Given the description of an element on the screen output the (x, y) to click on. 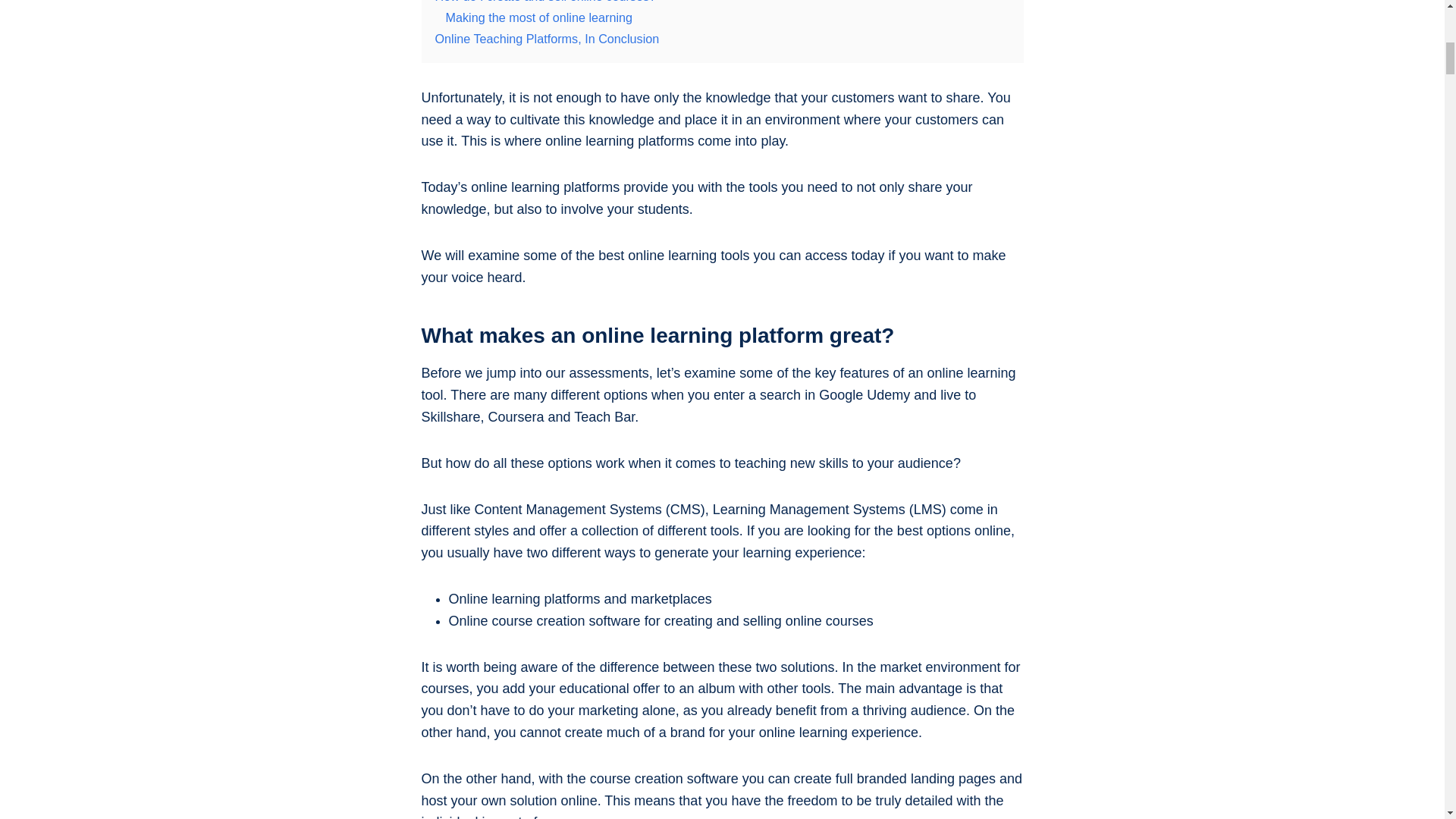
How do I create and sell online courses? (545, 1)
Making the most of online learning (539, 17)
Online Teaching Platforms, In Conclusion (547, 38)
